Given the description of an element on the screen output the (x, y) to click on. 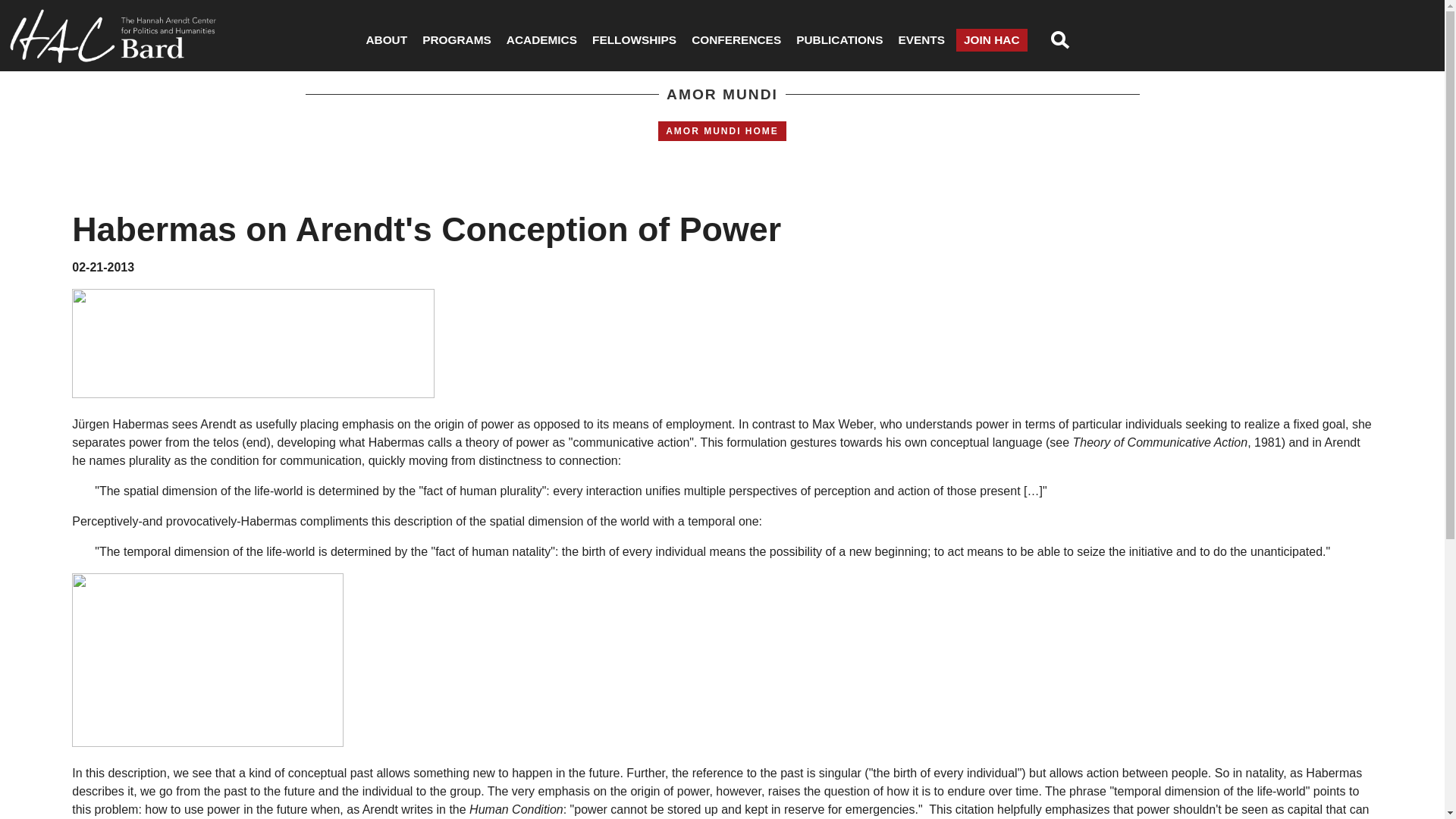
ABOUT (386, 39)
ACADEMICS (542, 39)
FromtheArendtCenter (252, 343)
clocks (207, 659)
FELLOWSHIPS (634, 39)
PROGRAMS (456, 39)
CONFERENCES (736, 39)
